Given the description of an element on the screen output the (x, y) to click on. 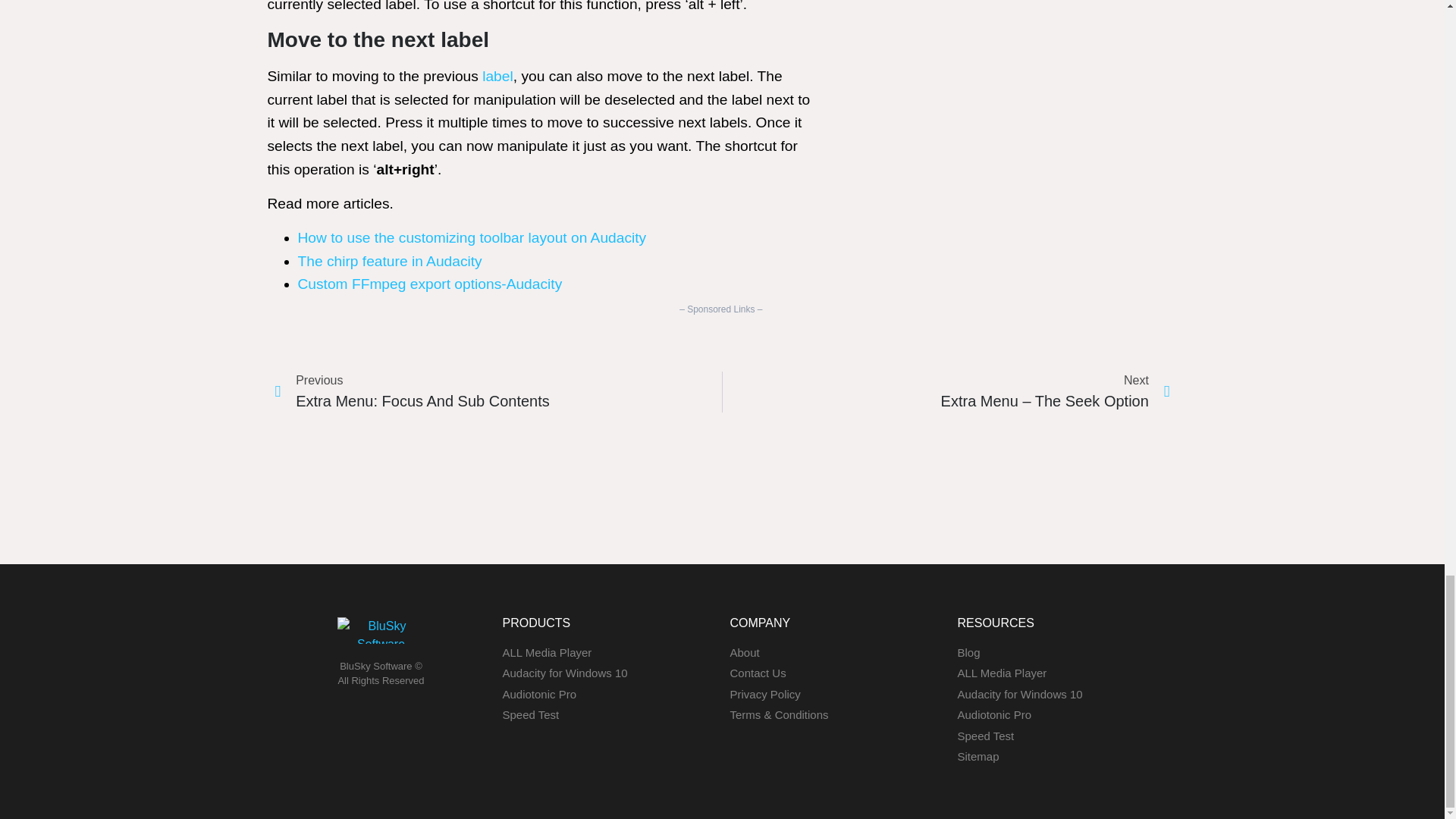
How to use the customizing toolbar layout on Audacity (471, 237)
The chirp feature in Audacity (389, 261)
label (497, 75)
Custom FFmpeg export options-Audacity (429, 283)
